Given the description of an element on the screen output the (x, y) to click on. 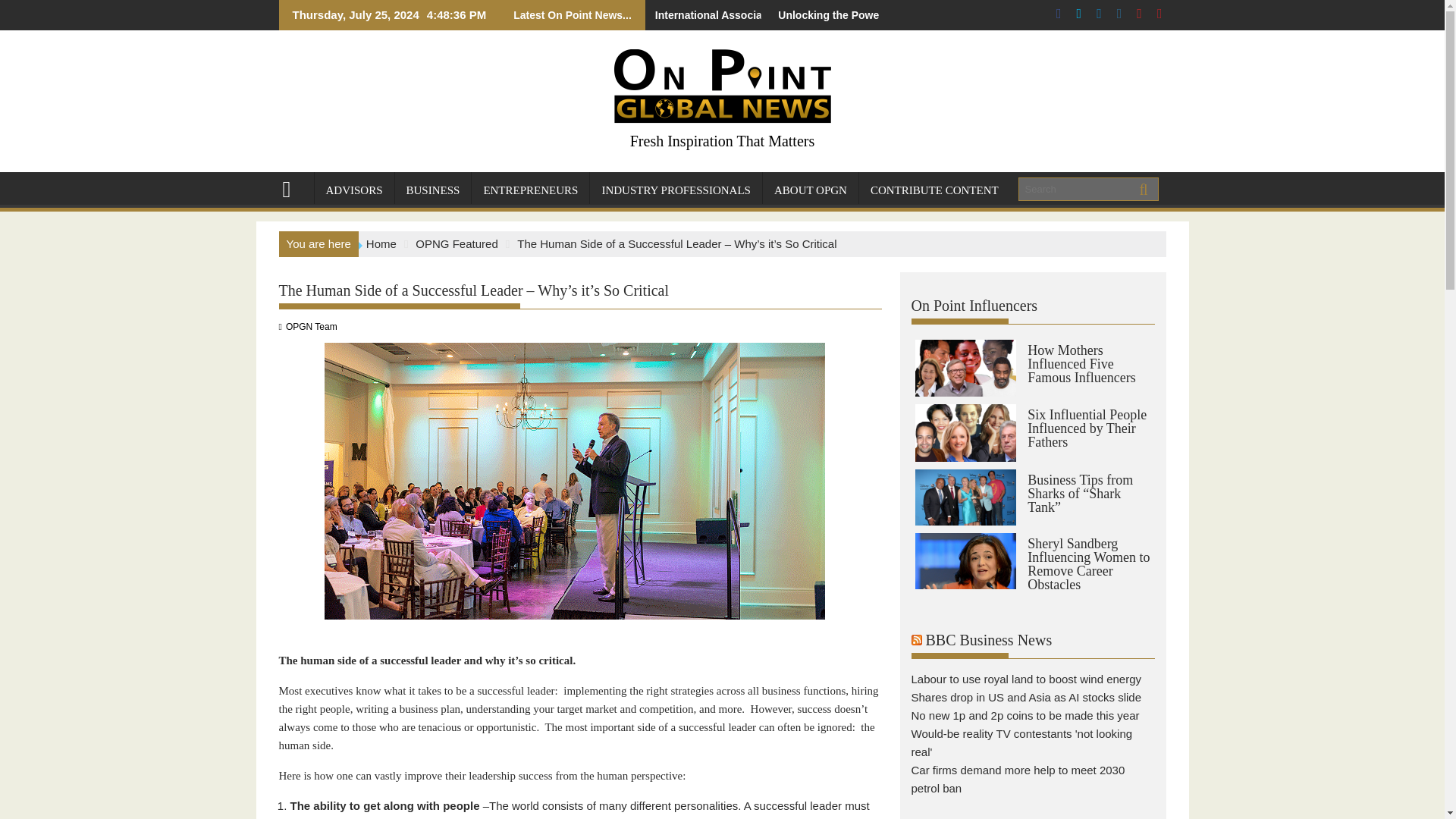
ADVISORS (353, 189)
OPNG Featured (455, 244)
OPGN Entrepreneurs (530, 189)
Industry Professionals (675, 189)
ABOUT OPGN (810, 189)
ENTREPRENEURS (530, 189)
On Point Global News (293, 187)
INDUSTRY PROFESSIONALS (675, 189)
BUSINESS (432, 189)
OPGN Advisors (353, 189)
Home (381, 244)
OPGN Team (311, 326)
CONTRIBUTE CONTENT (934, 189)
